Given the description of an element on the screen output the (x, y) to click on. 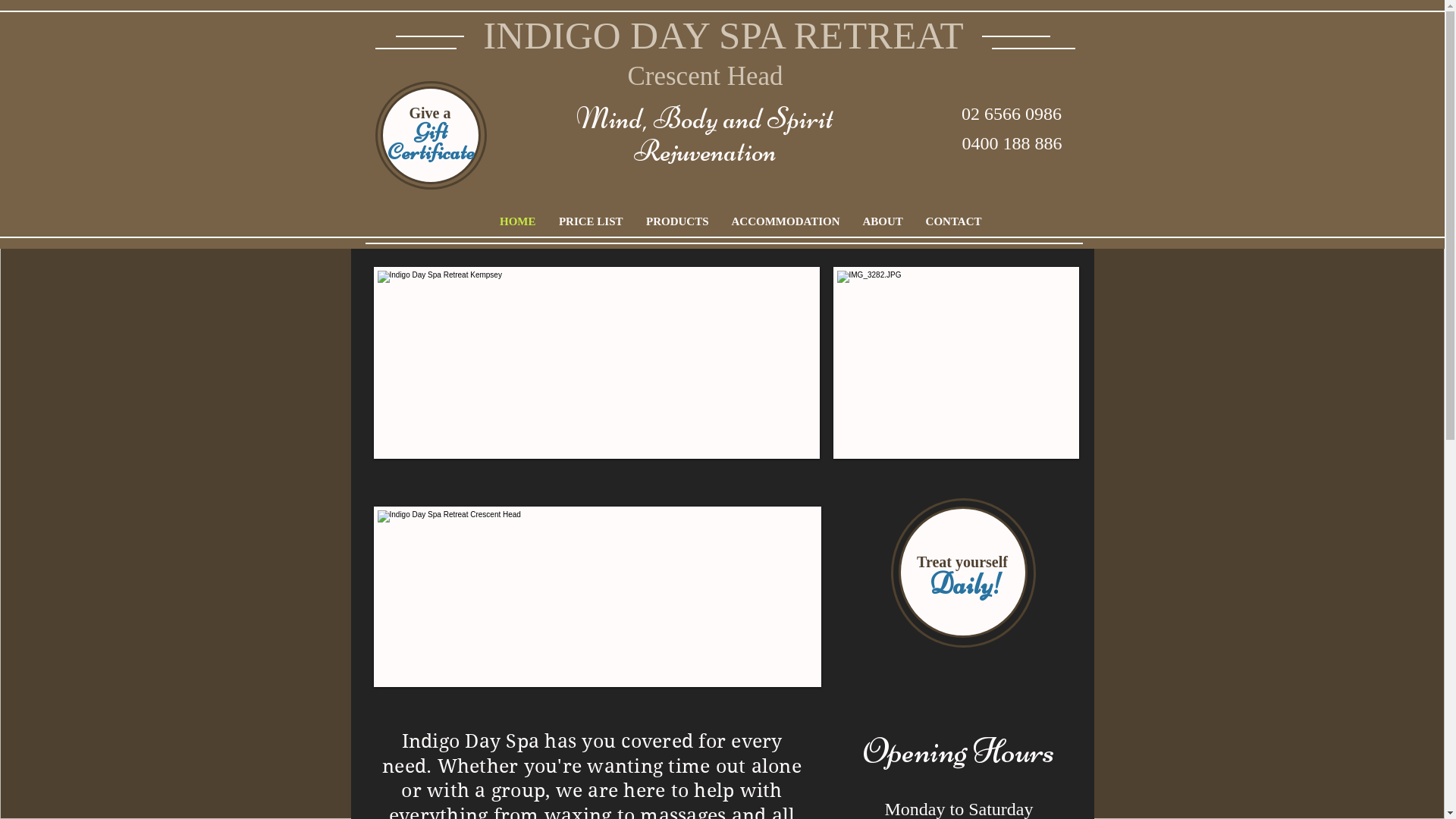
INDIGO DAY SPA RETREAT Element type: text (723, 35)
Gift Certificate Element type: text (430, 141)
PRICE LIST Element type: text (590, 221)
HOME Element type: text (517, 221)
CONTACT Element type: text (953, 221)
Crescent Head Element type: text (704, 76)
ABOUT Element type: text (881, 221)
ACCOMMODATION Element type: text (785, 221)
Mind, Body and Spirit Rejuvenation Element type: text (704, 134)
PRODUCTS Element type: text (676, 221)
IMG_4823.JPG Element type: hover (955, 362)
